Given the description of an element on the screen output the (x, y) to click on. 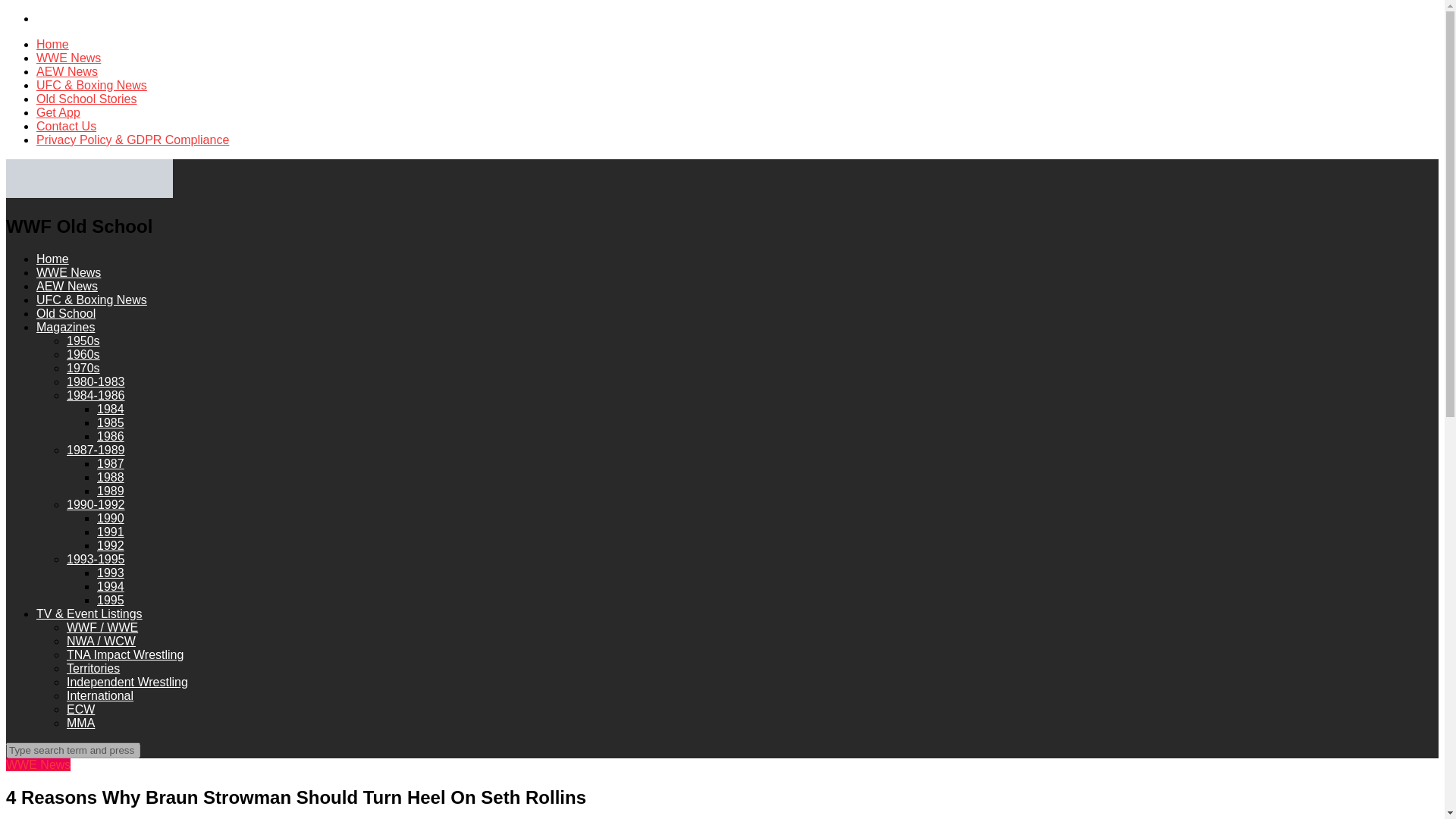
1993-1995 (95, 558)
1988 (110, 477)
1984-1986 (95, 395)
1986 (110, 436)
1984 (110, 408)
1993 (110, 572)
Type search term and press enter (72, 750)
1985 (110, 422)
1991 (110, 531)
Get App (58, 112)
